Given the description of an element on the screen output the (x, y) to click on. 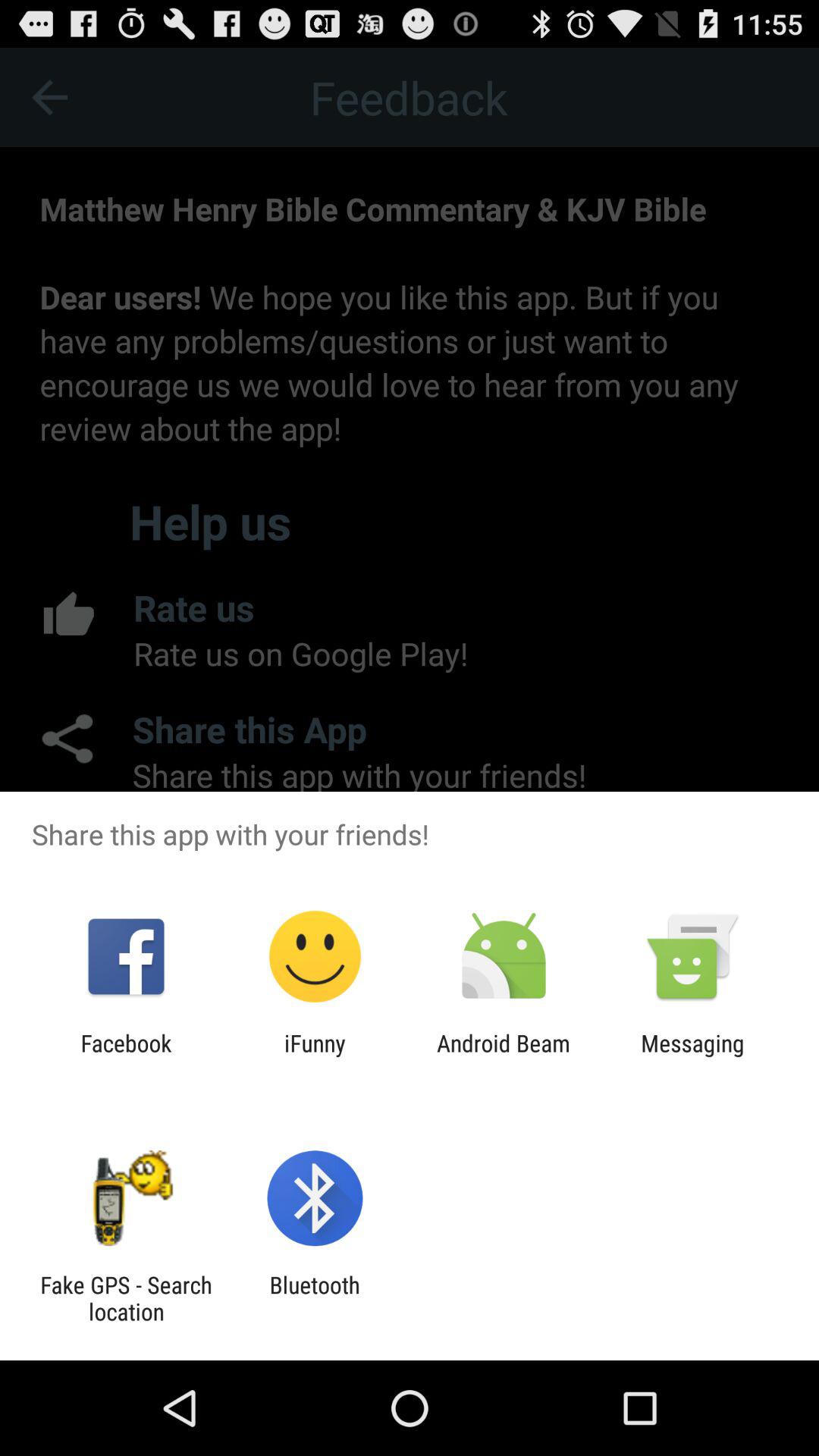
jump until the ifunny app (314, 1056)
